Given the description of an element on the screen output the (x, y) to click on. 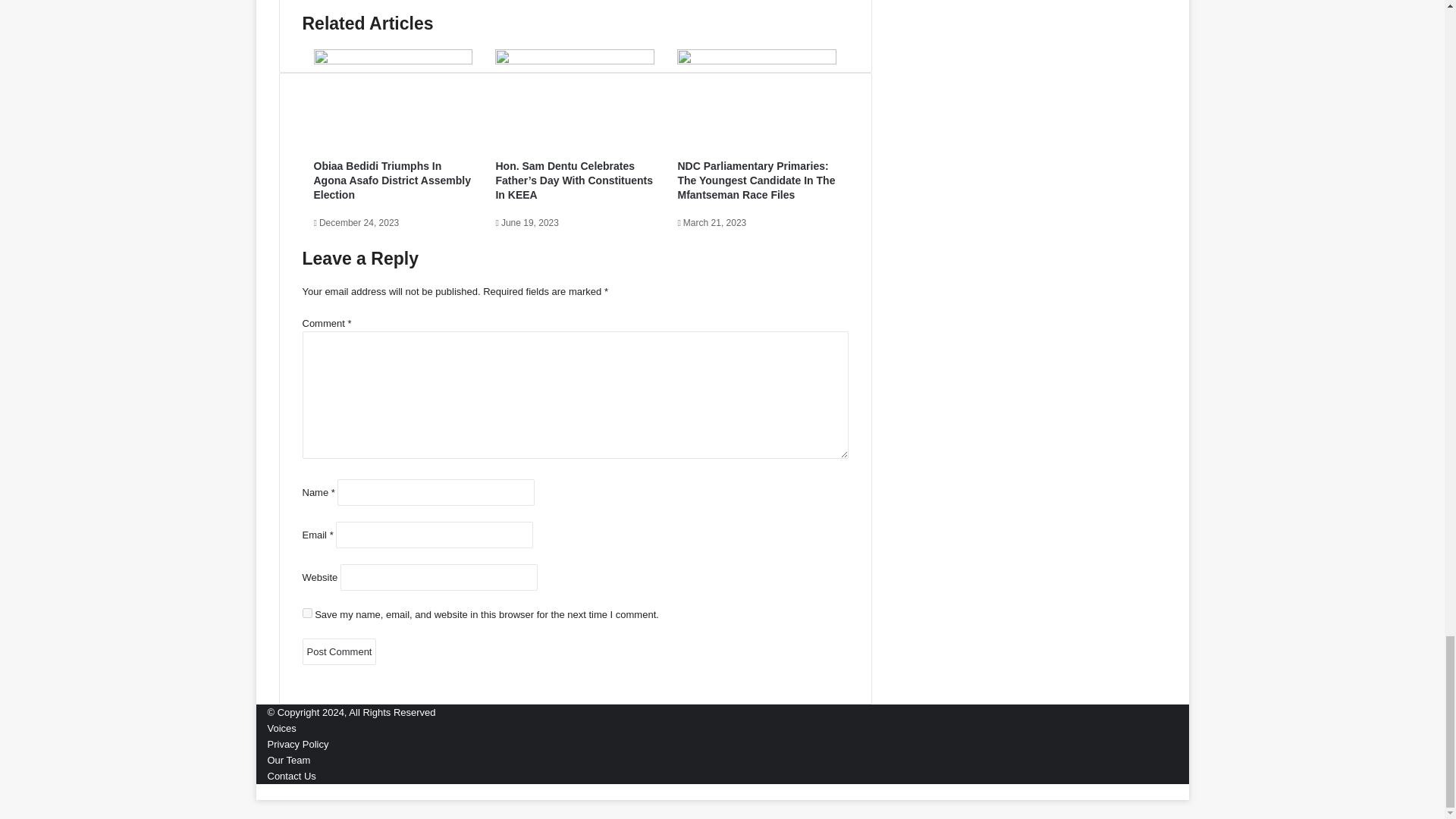
Post Comment (338, 651)
yes (306, 613)
